Given the description of an element on the screen output the (x, y) to click on. 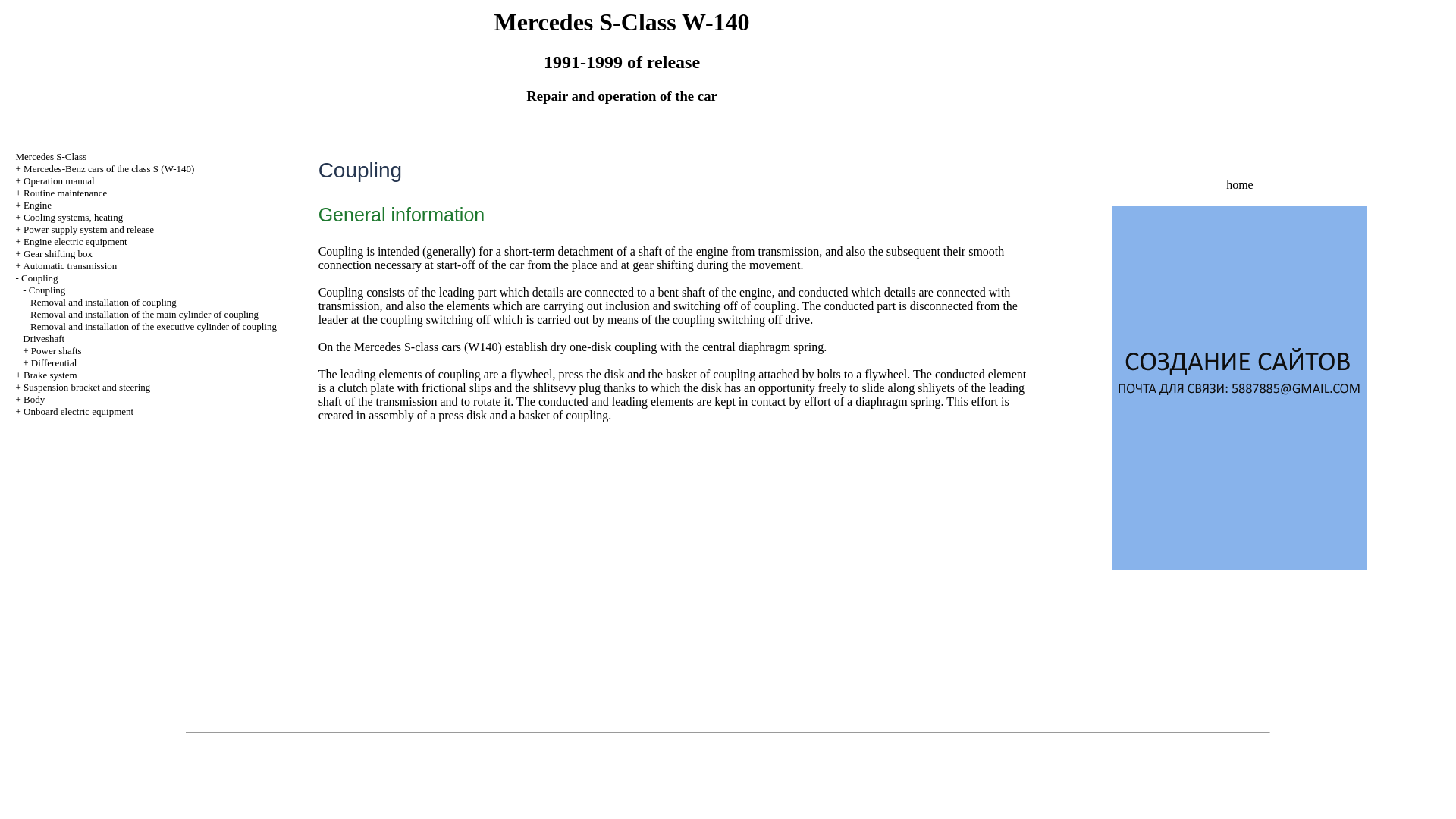
Brake system (50, 374)
Coupling (47, 289)
Suspension bracket and steering (86, 387)
Driveshaft (43, 337)
Routine maintenance (64, 193)
Onboard electric equipment (78, 410)
Coupling (39, 277)
Automatic transmission (69, 265)
Gear shifting box (58, 253)
